Given the description of an element on the screen output the (x, y) to click on. 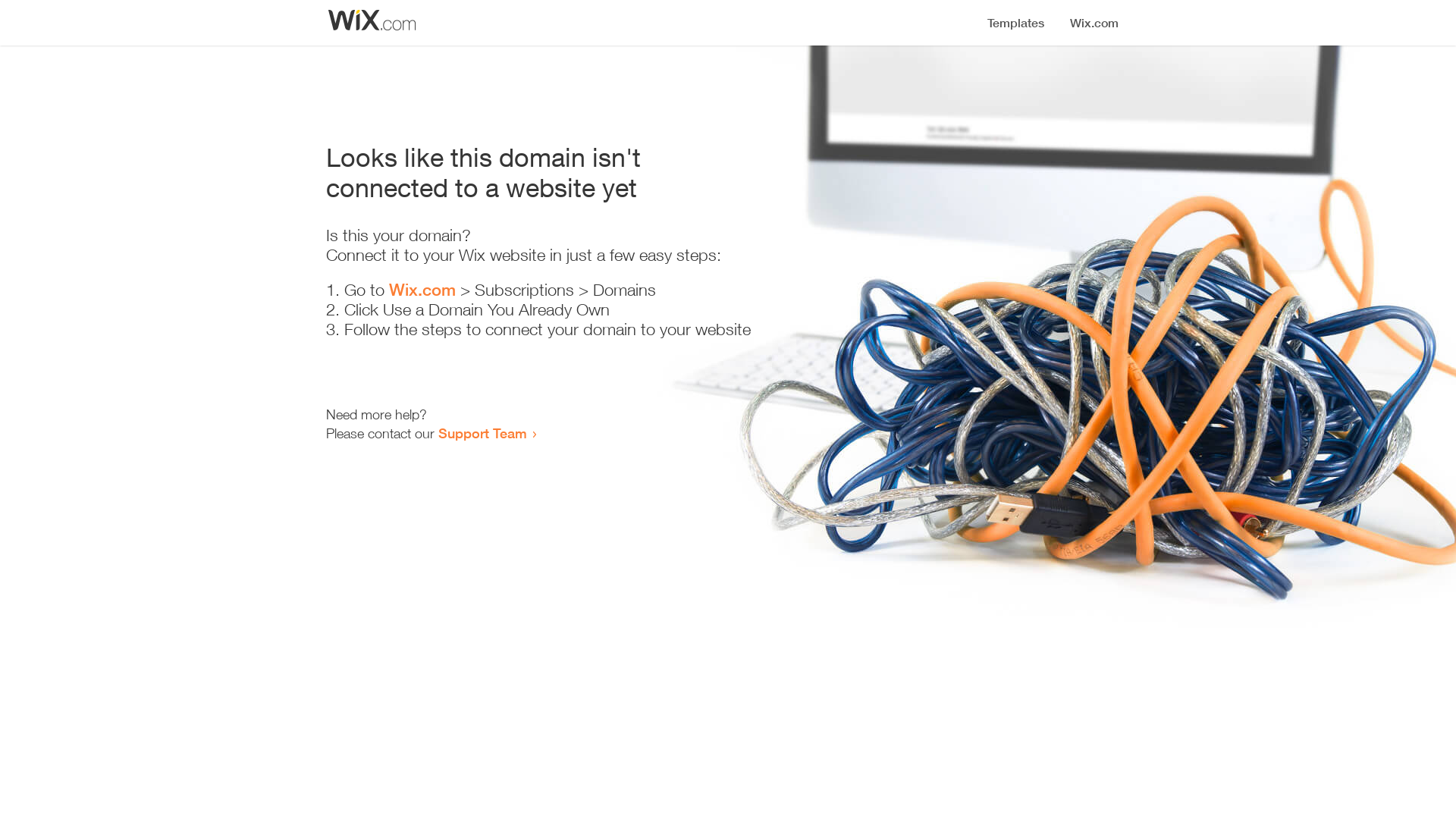
Support Team Element type: text (482, 432)
Wix.com Element type: text (422, 289)
